Given the description of an element on the screen output the (x, y) to click on. 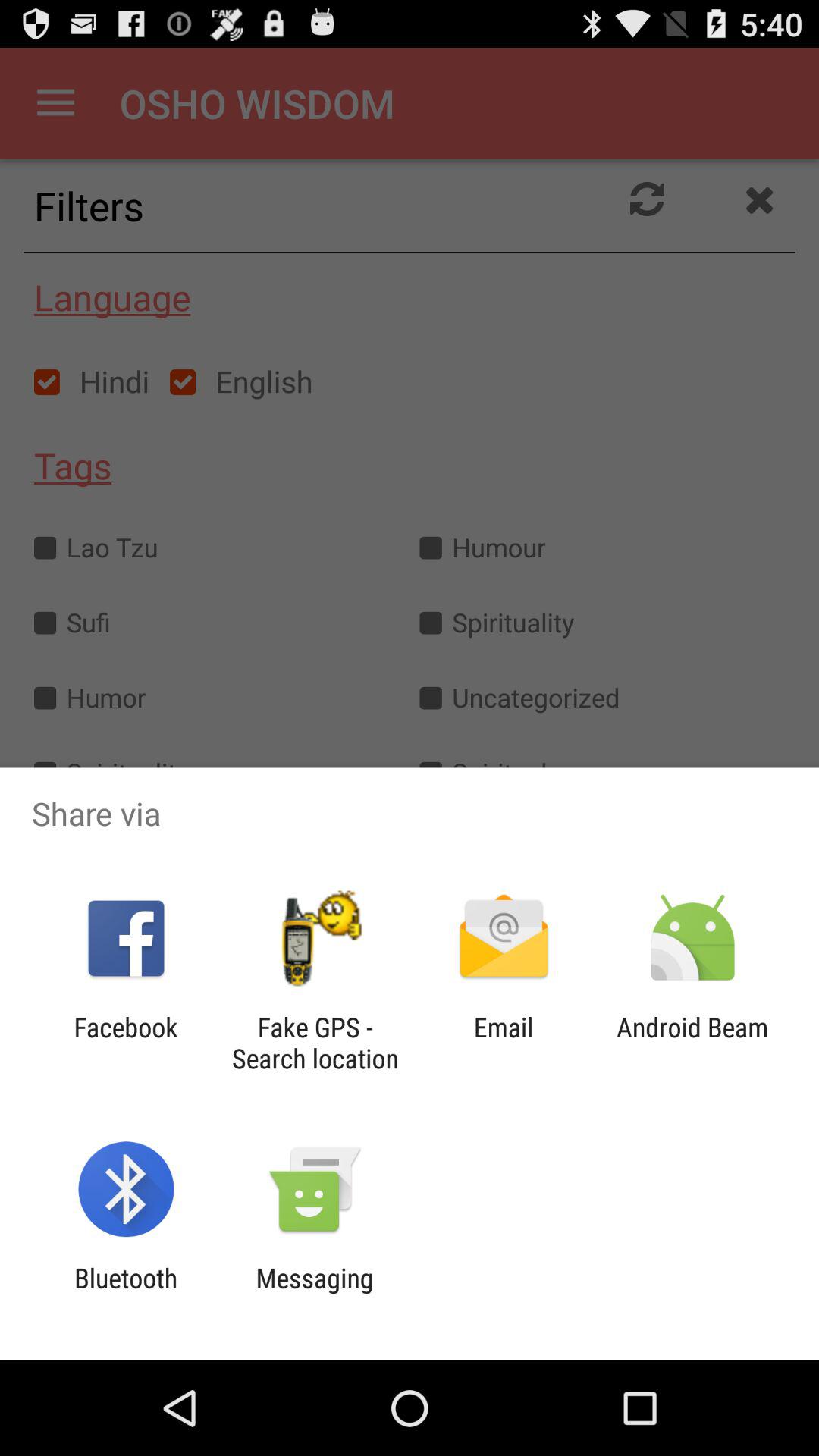
click the icon to the left of the messaging item (125, 1293)
